Given the description of an element on the screen output the (x, y) to click on. 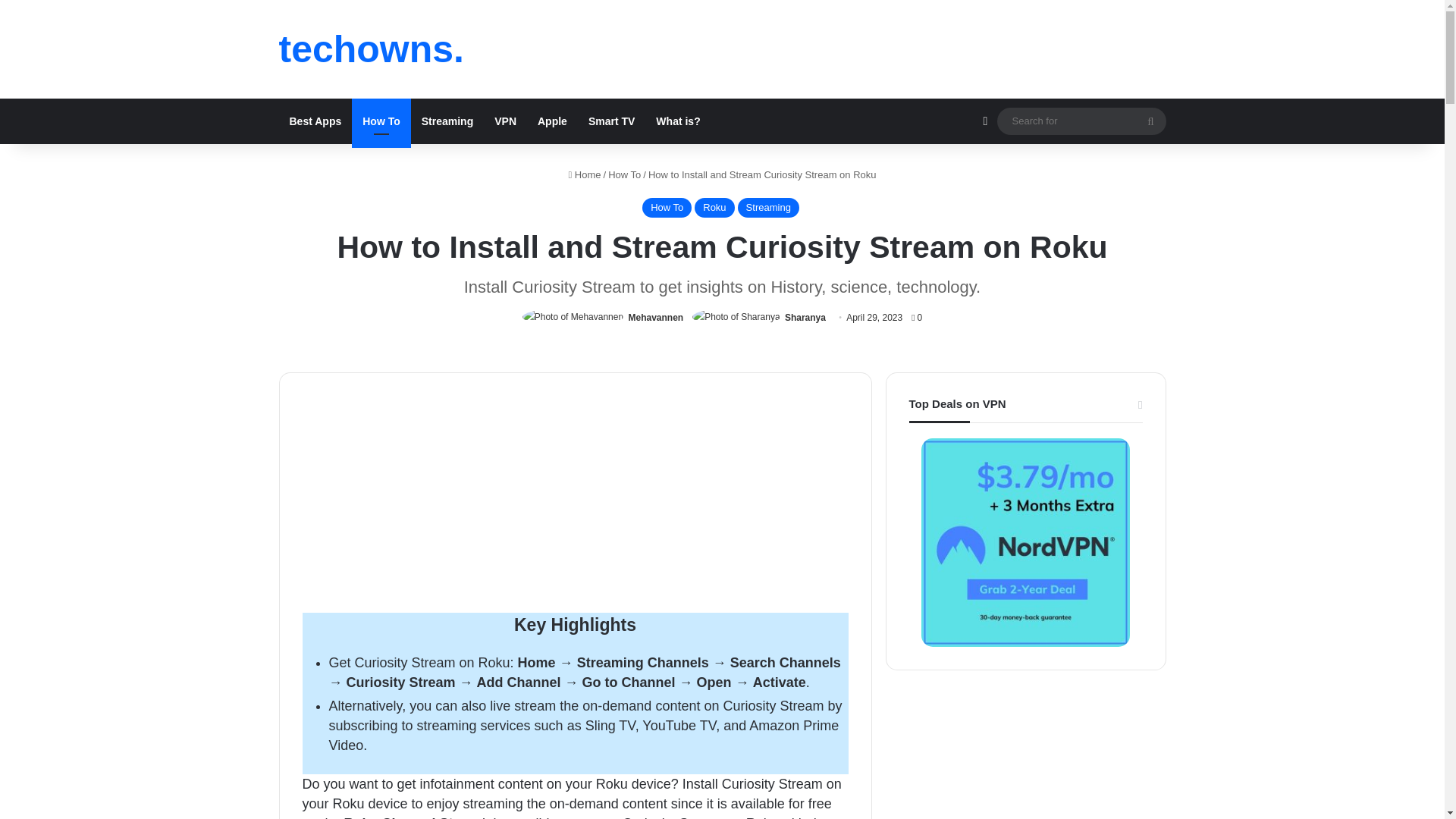
Advertisement (574, 499)
techowns. (371, 48)
VPN (505, 121)
Search for (1150, 121)
Apple (552, 121)
Mehavannen (654, 317)
What is? (677, 121)
How To (381, 121)
Streaming (768, 207)
Streaming (446, 121)
